Given the description of an element on the screen output the (x, y) to click on. 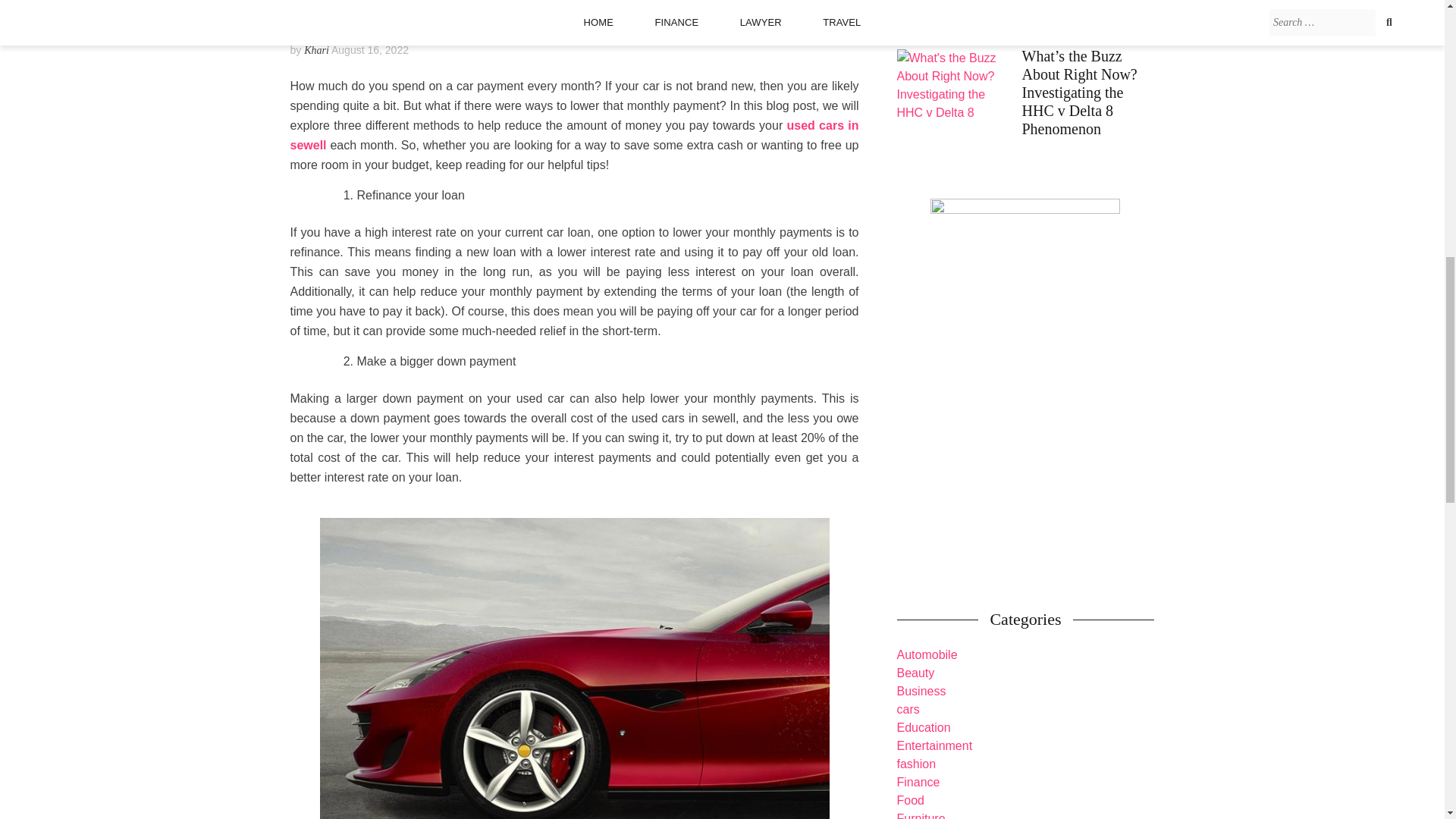
used cars in sewell (574, 134)
Food (909, 799)
Education (923, 727)
Khari (316, 50)
Beauty (915, 672)
fashion (916, 763)
cars (907, 708)
Furniture (920, 815)
Automobile (926, 654)
August 16, 2022 (370, 50)
